Given the description of an element on the screen output the (x, y) to click on. 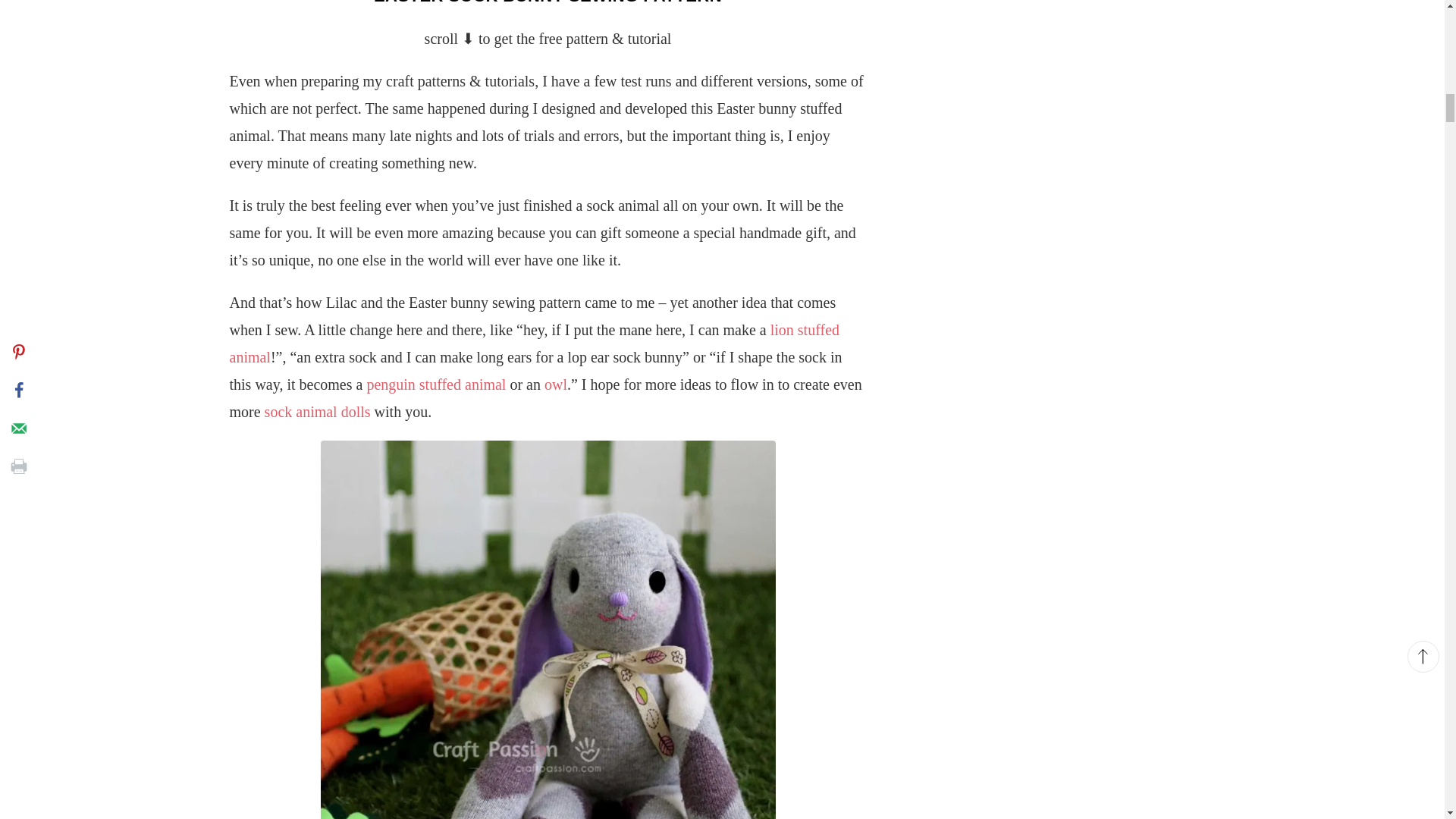
lion stuffed animal (534, 343)
owl (555, 384)
penguin stuffed animal (435, 384)
sock animal dolls (317, 411)
